Given the description of an element on the screen output the (x, y) to click on. 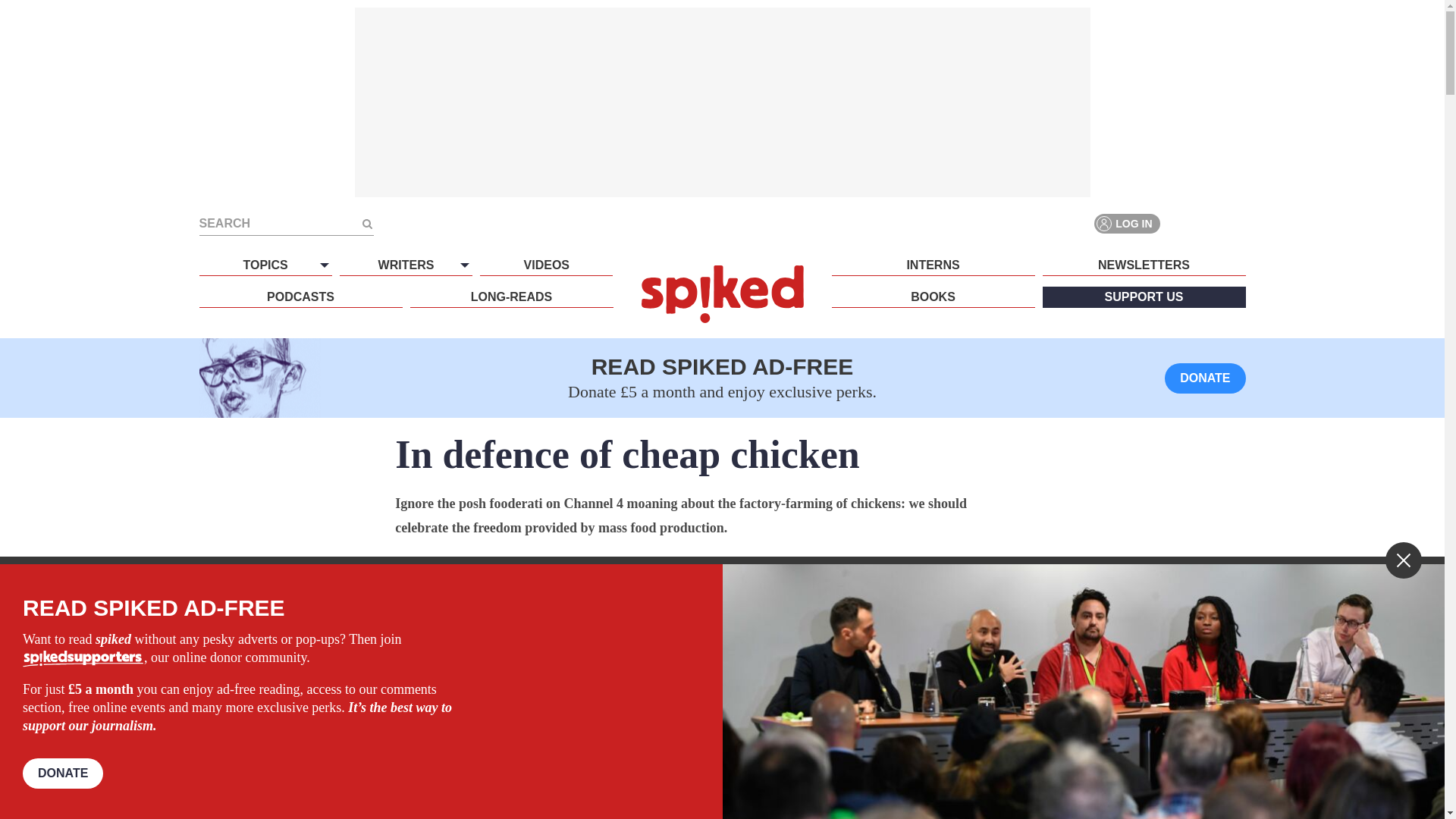
spiked - humanity is underrated (722, 293)
INTERNS (932, 265)
SUPPORT US (1143, 296)
Twitter (1207, 223)
LONG-READS (510, 296)
VIDEOS (546, 265)
PODCASTS (299, 296)
LOG IN (1126, 223)
TOPICS (264, 265)
WRITERS (405, 265)
YouTube (1234, 223)
NEWSLETTERS (1143, 265)
BOOKS (932, 296)
Facebook (1180, 223)
